Given the description of an element on the screen output the (x, y) to click on. 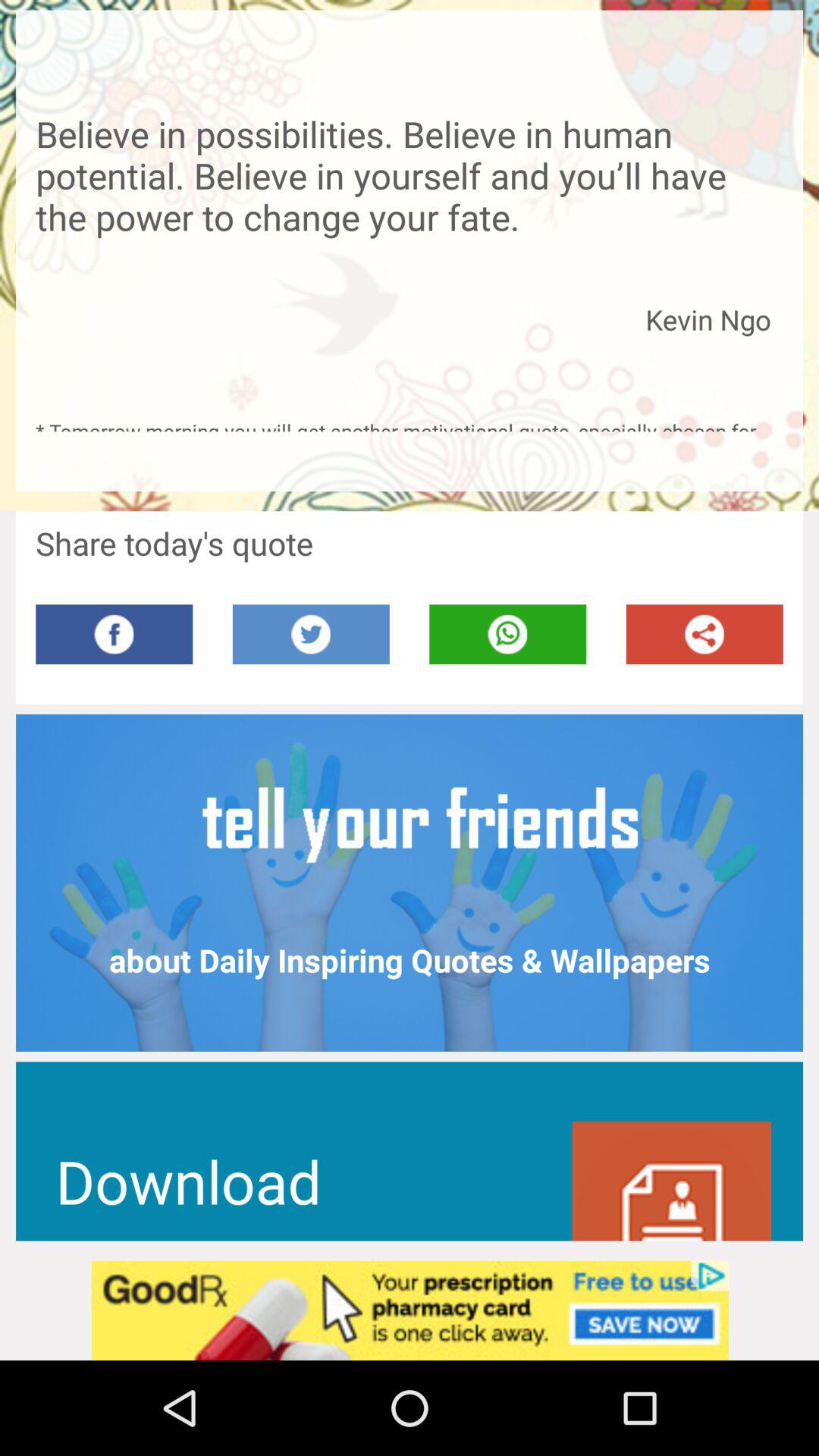
share quote on twitter (310, 634)
